Given the description of an element on the screen output the (x, y) to click on. 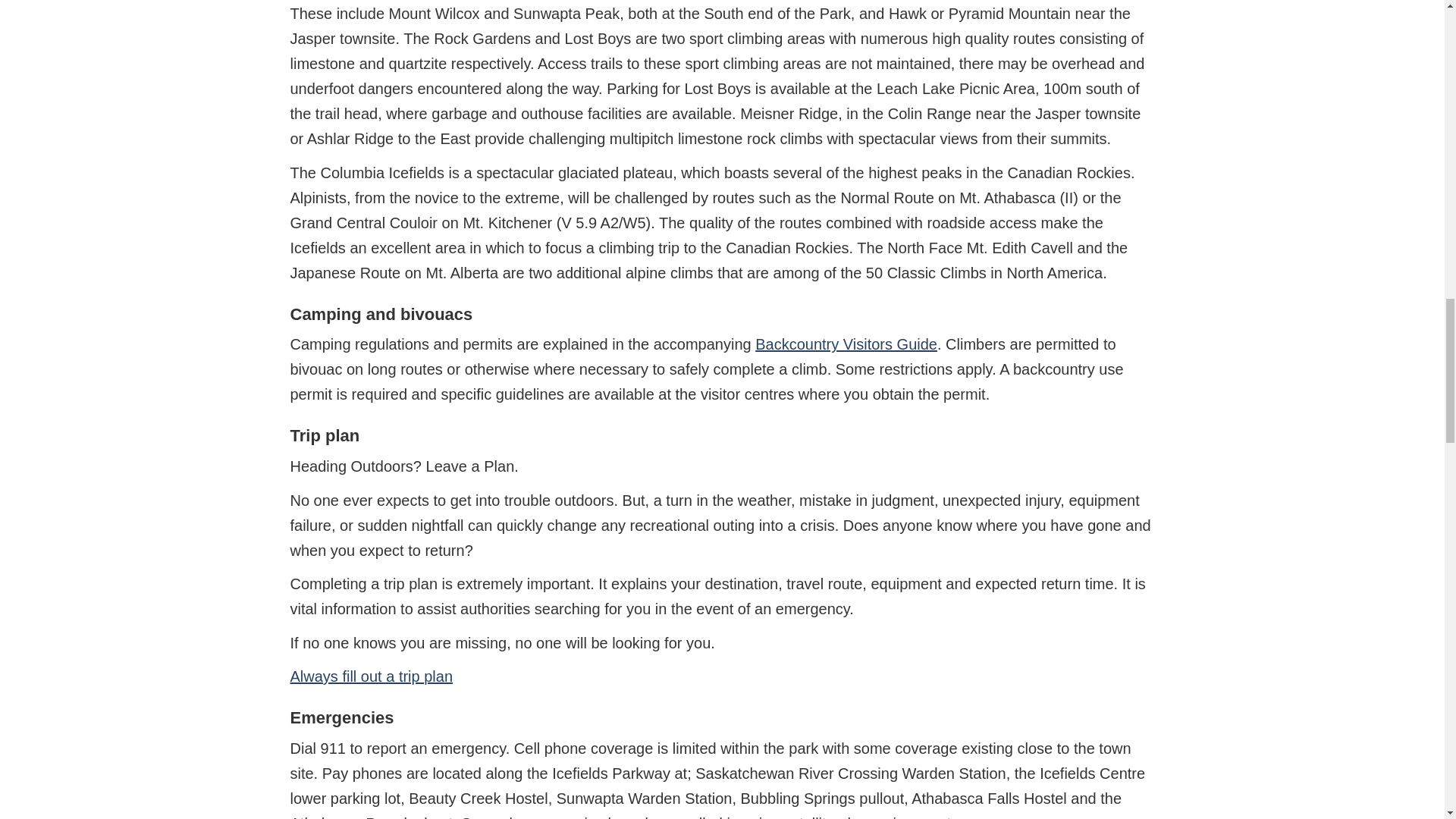
Always fill out a trip plan (370, 676)
Backcountry Visitors Guide (846, 343)
